Given the description of an element on the screen output the (x, y) to click on. 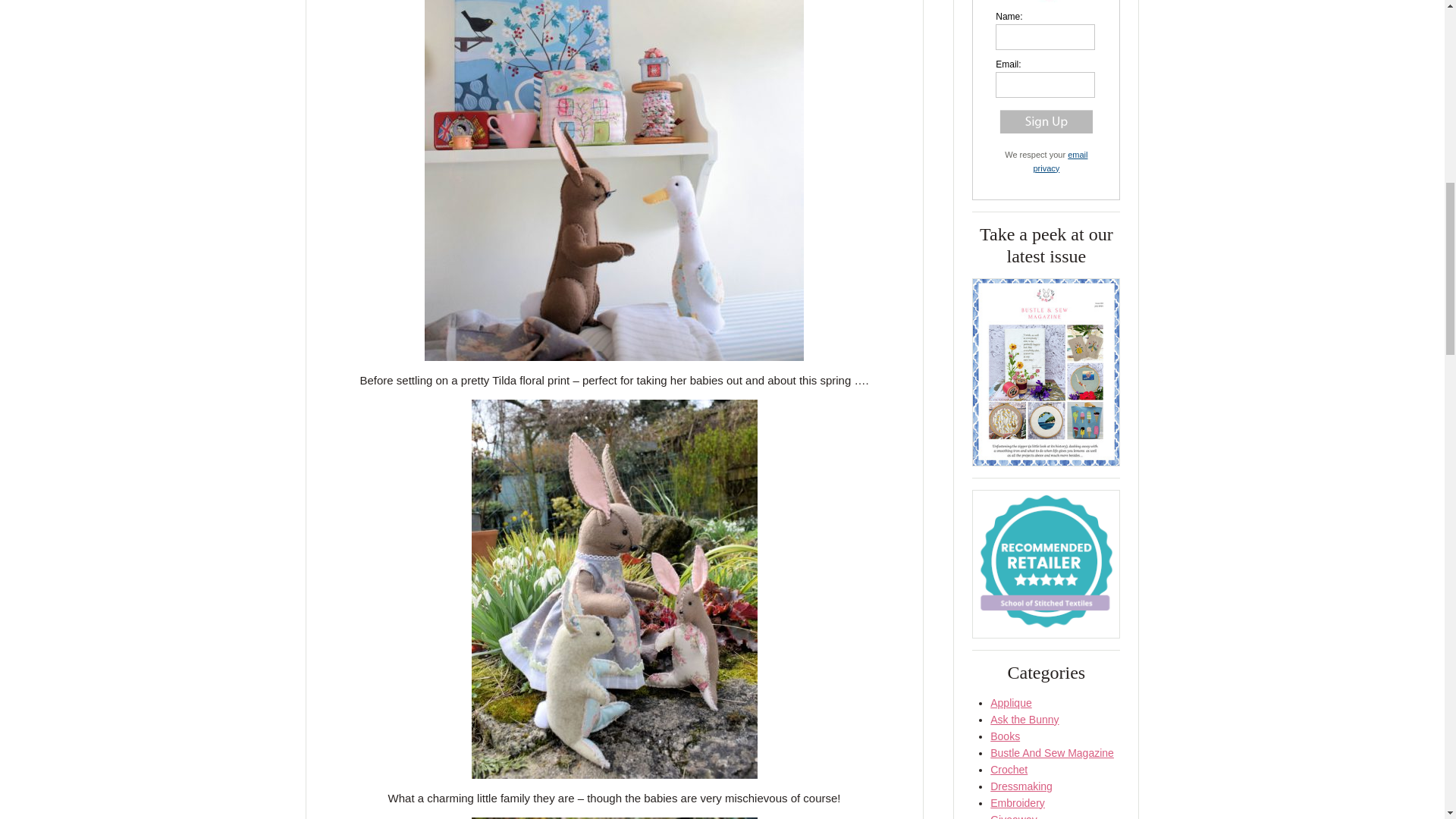
School of Stitched Textiles (1045, 563)
Privacy Policy (1059, 160)
